Given the description of an element on the screen output the (x, y) to click on. 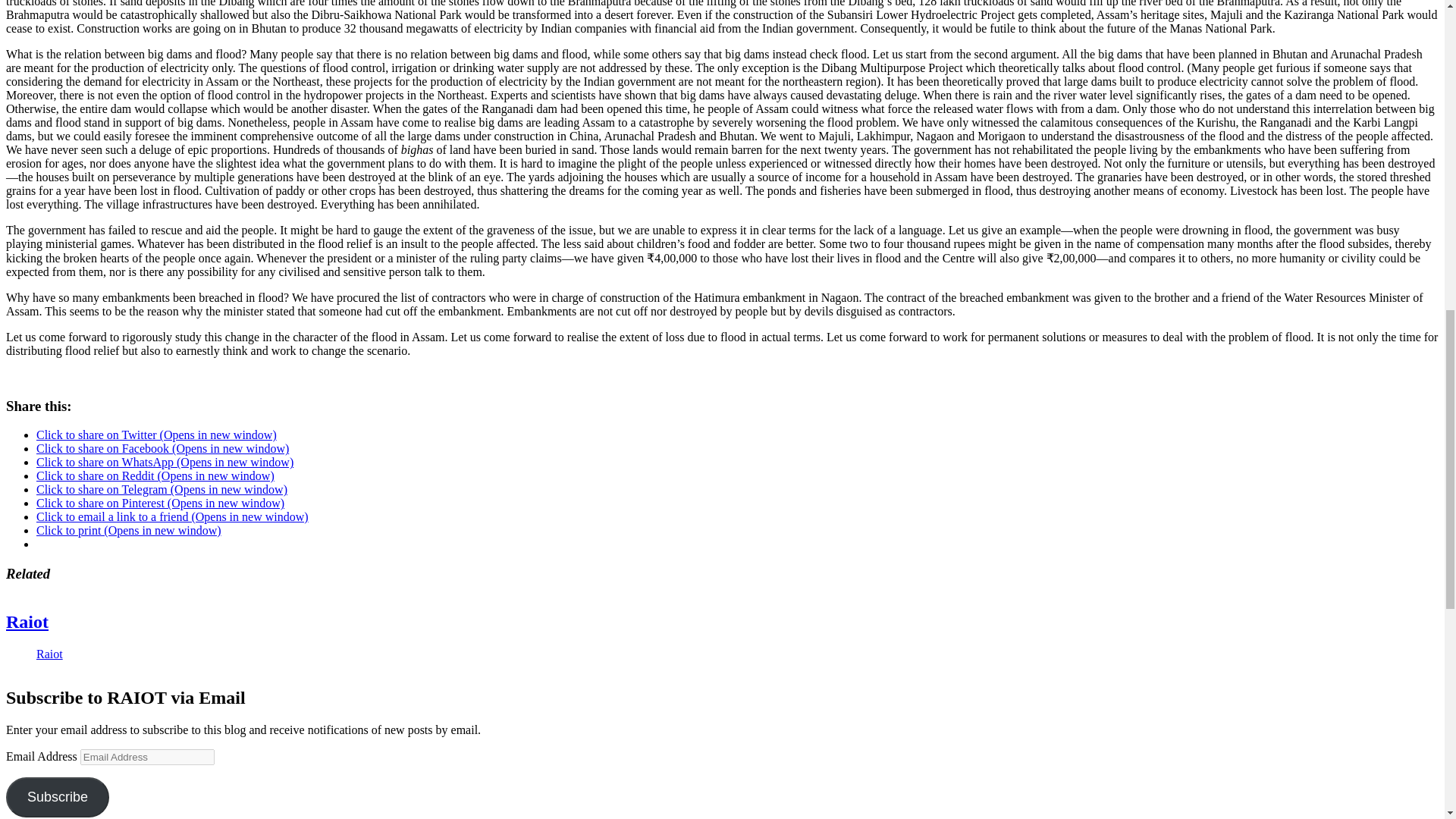
Click to share on Pinterest (159, 502)
Subscribe (57, 797)
Click to email a link to a friend (172, 516)
Click to share on Facebook (162, 448)
Click to share on Twitter (156, 434)
Raiot (26, 621)
Click to share on Telegram (161, 489)
Click to print (128, 530)
Click to share on Reddit (155, 475)
Click to share on WhatsApp (165, 461)
Raiot (49, 653)
